Given the description of an element on the screen output the (x, y) to click on. 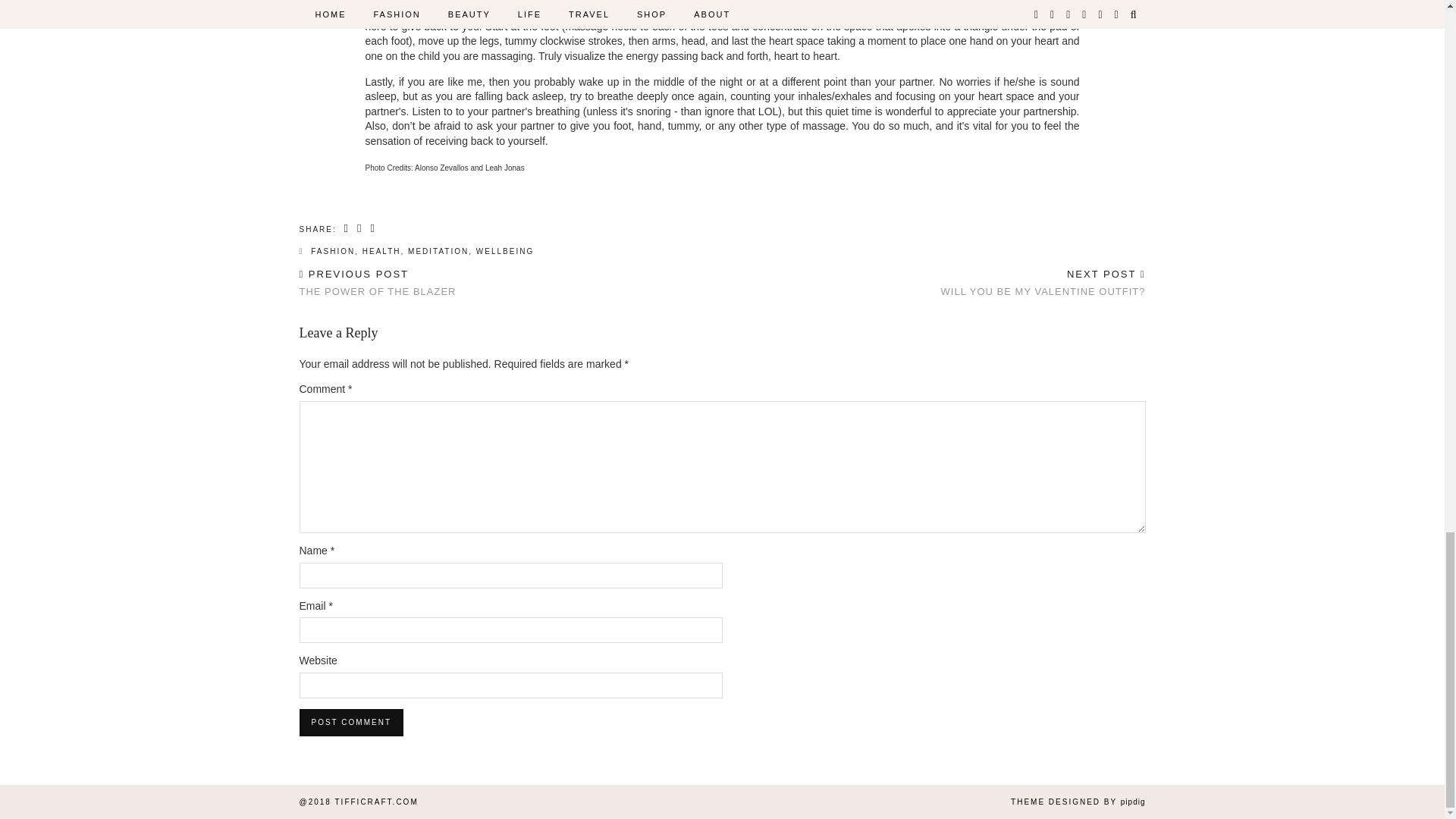
Post Comment (350, 722)
